Given the description of an element on the screen output the (x, y) to click on. 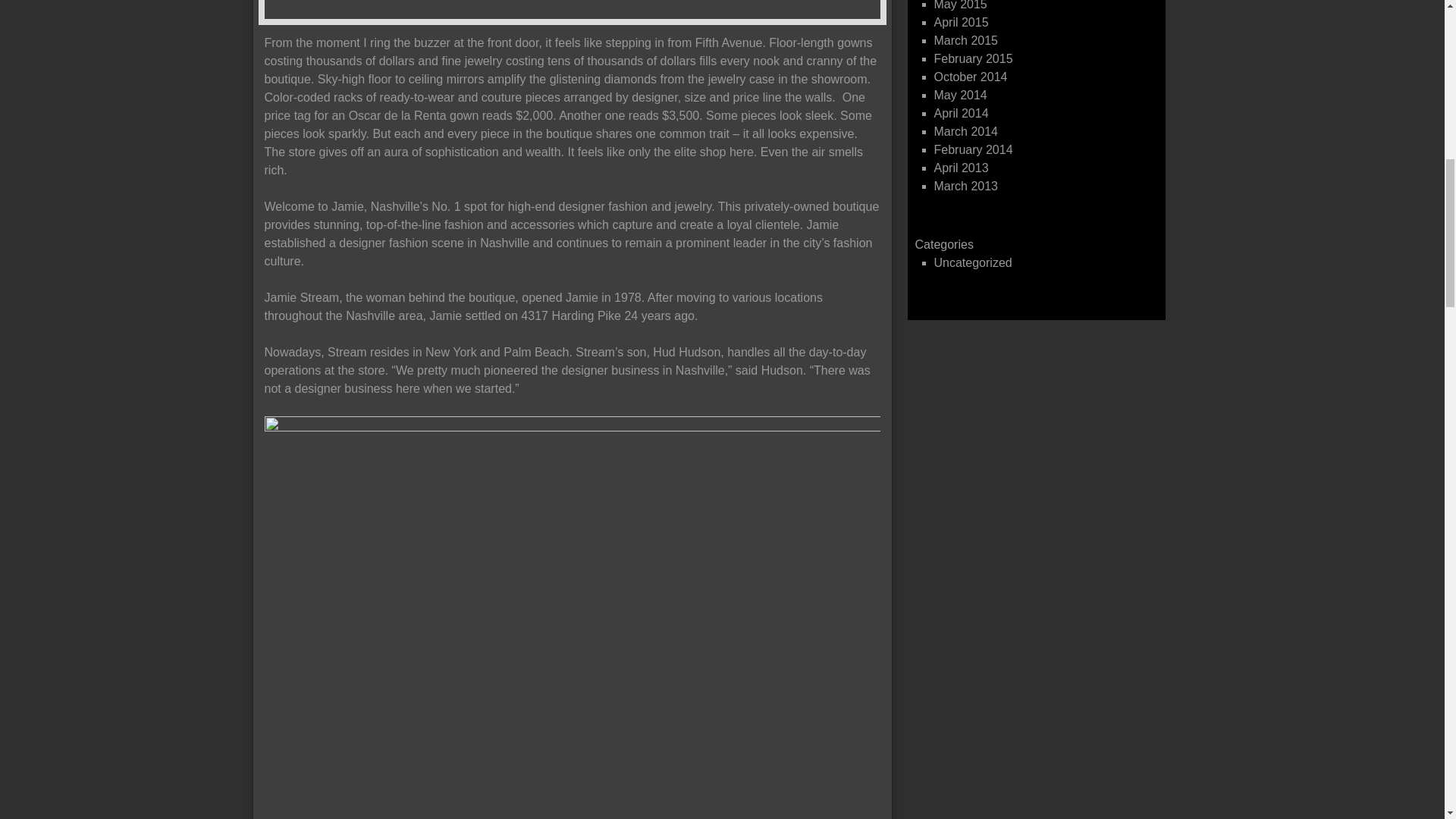
May 2015 (960, 5)
April 2015 (961, 21)
March 2015 (966, 40)
